Given the description of an element on the screen output the (x, y) to click on. 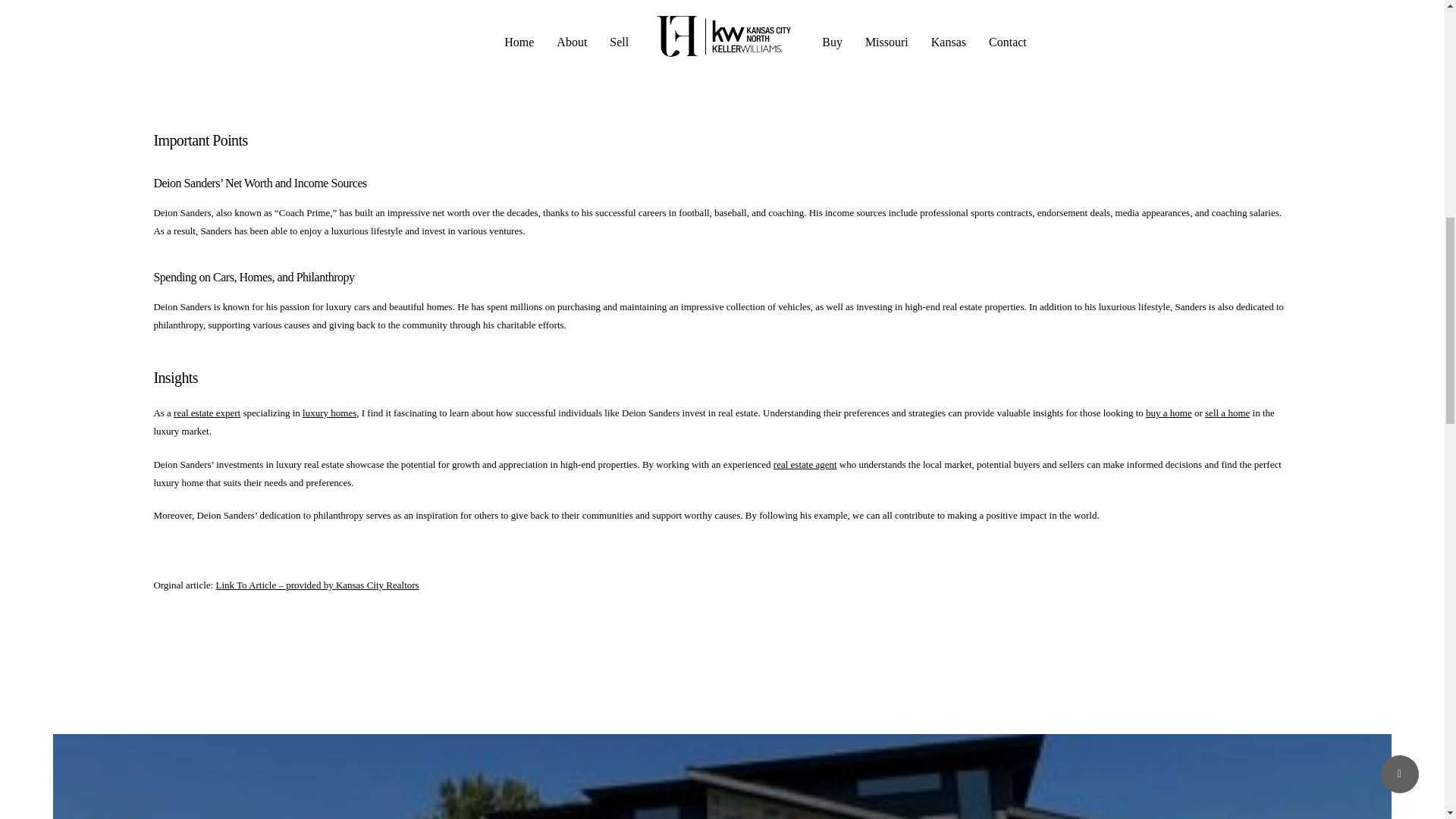
luxury homes (769, 86)
real estate expert (206, 412)
buy a home (1168, 412)
luxury homes (329, 412)
luxury homes (769, 86)
